Given the description of an element on the screen output the (x, y) to click on. 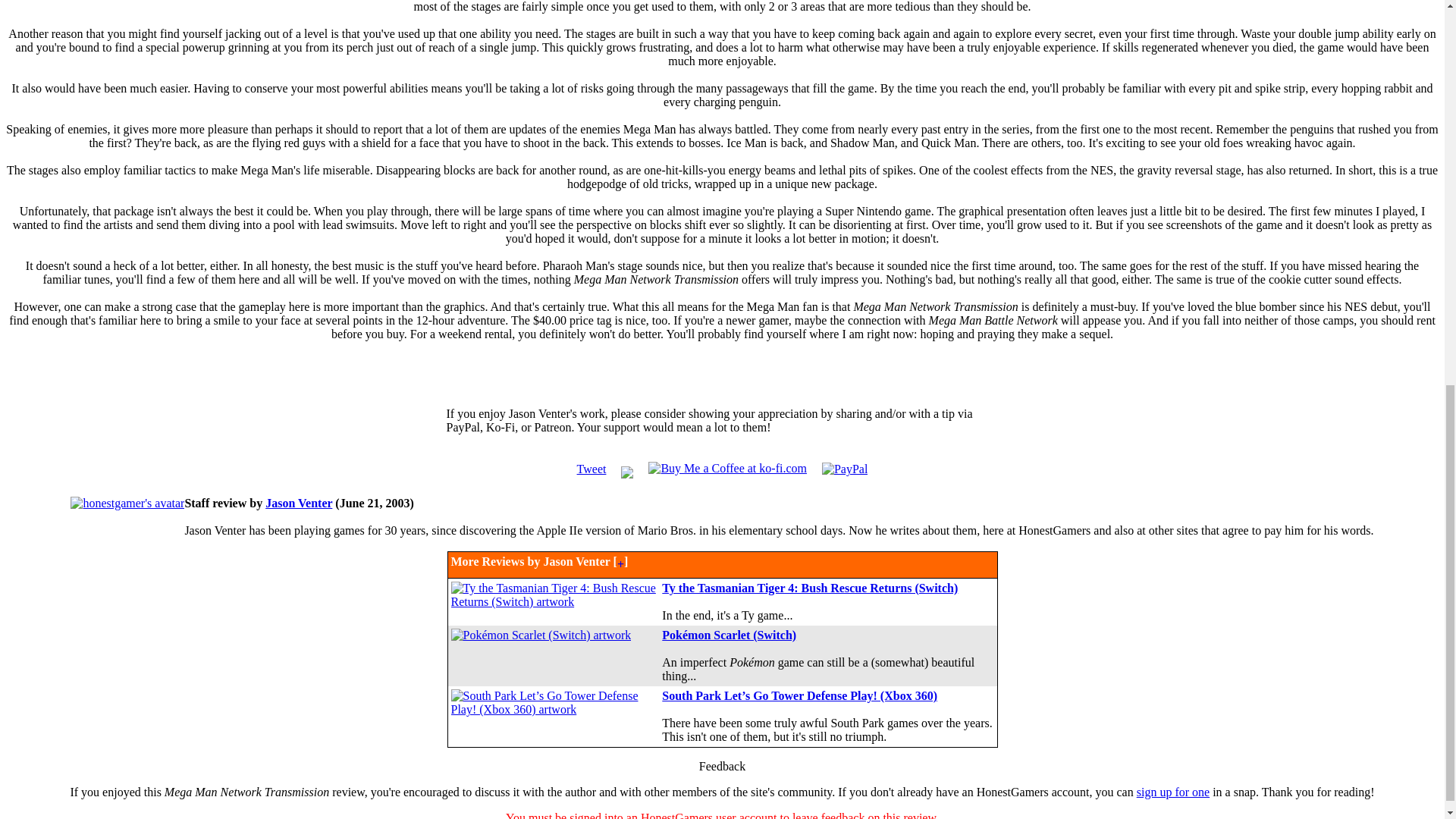
Jason Venter (297, 502)
Tweet (591, 468)
